Given the description of an element on the screen output the (x, y) to click on. 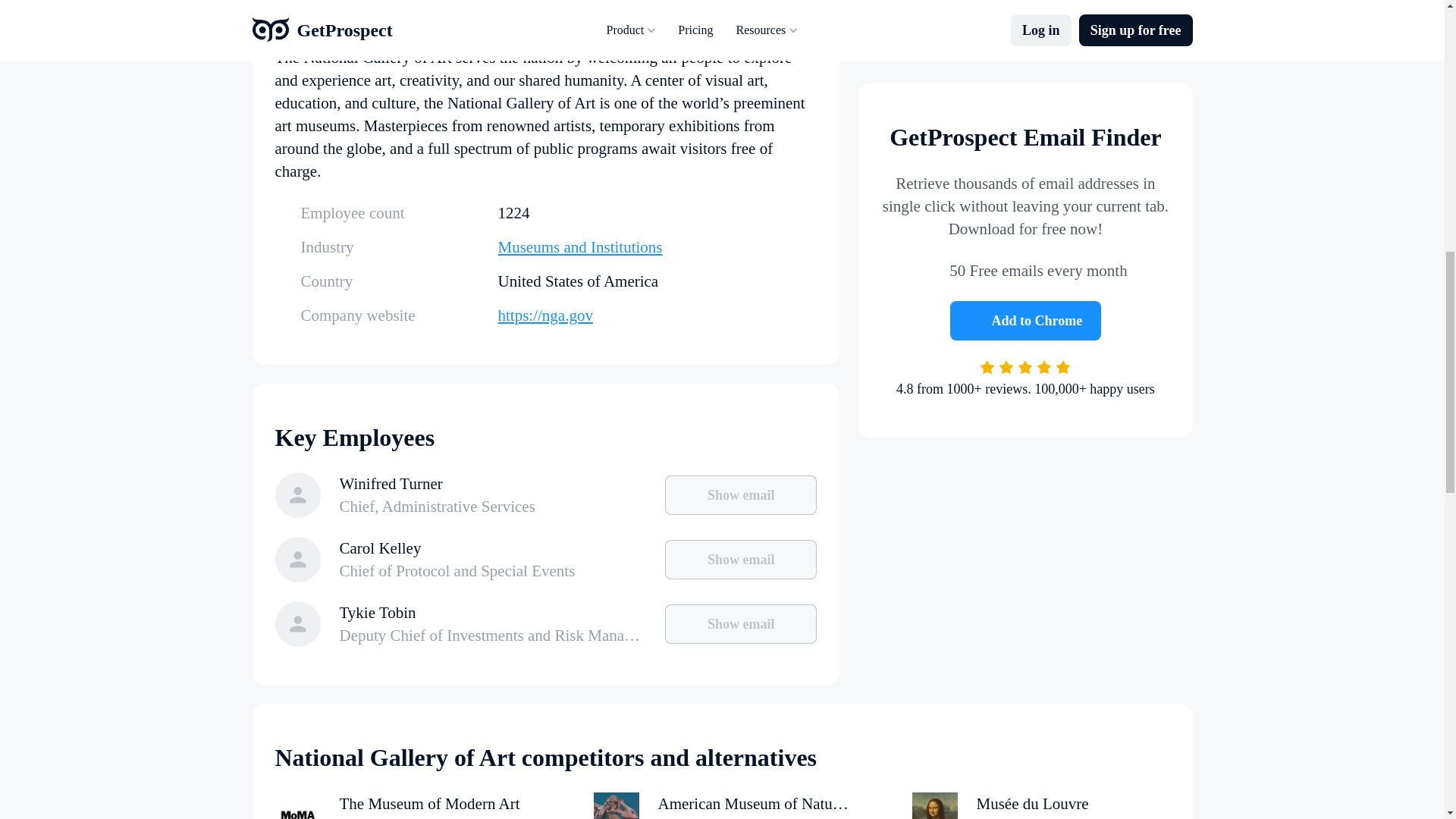
Show email (740, 495)
Add to Chrome (1026, 194)
Show email (740, 623)
Show email (740, 559)
Museums and Institutions (656, 246)
